Given the description of an element on the screen output the (x, y) to click on. 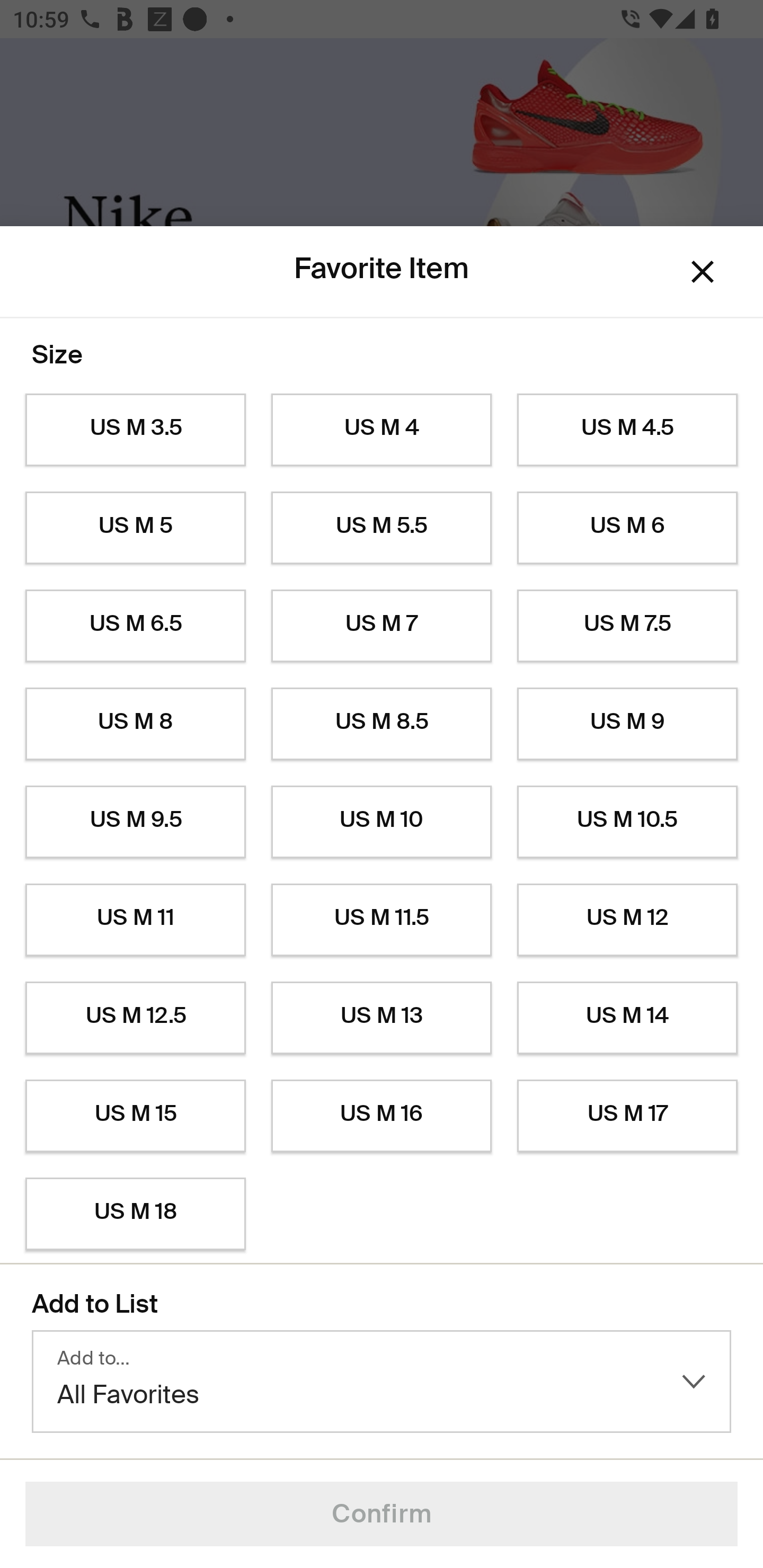
Dismiss (702, 271)
US M 3.5 (135, 430)
US M 4 (381, 430)
US M 4.5 (627, 430)
US M 5 (135, 527)
US M 5.5 (381, 527)
US M 6 (627, 527)
US M 6.5 (135, 626)
US M 7 (381, 626)
US M 7.5 (627, 626)
US M 8 (135, 724)
US M 8.5 (381, 724)
US M 9 (627, 724)
US M 9.5 (135, 822)
US M 10 (381, 822)
US M 10.5 (627, 822)
US M 11 (135, 919)
US M 11.5 (381, 919)
US M 12 (627, 919)
US M 12.5 (135, 1018)
US M 13 (381, 1018)
US M 14 (627, 1018)
US M 15 (135, 1116)
US M 16 (381, 1116)
US M 17 (627, 1116)
US M 18 (135, 1214)
Add to… All Favorites (381, 1381)
Confirm (381, 1513)
